Given the description of an element on the screen output the (x, y) to click on. 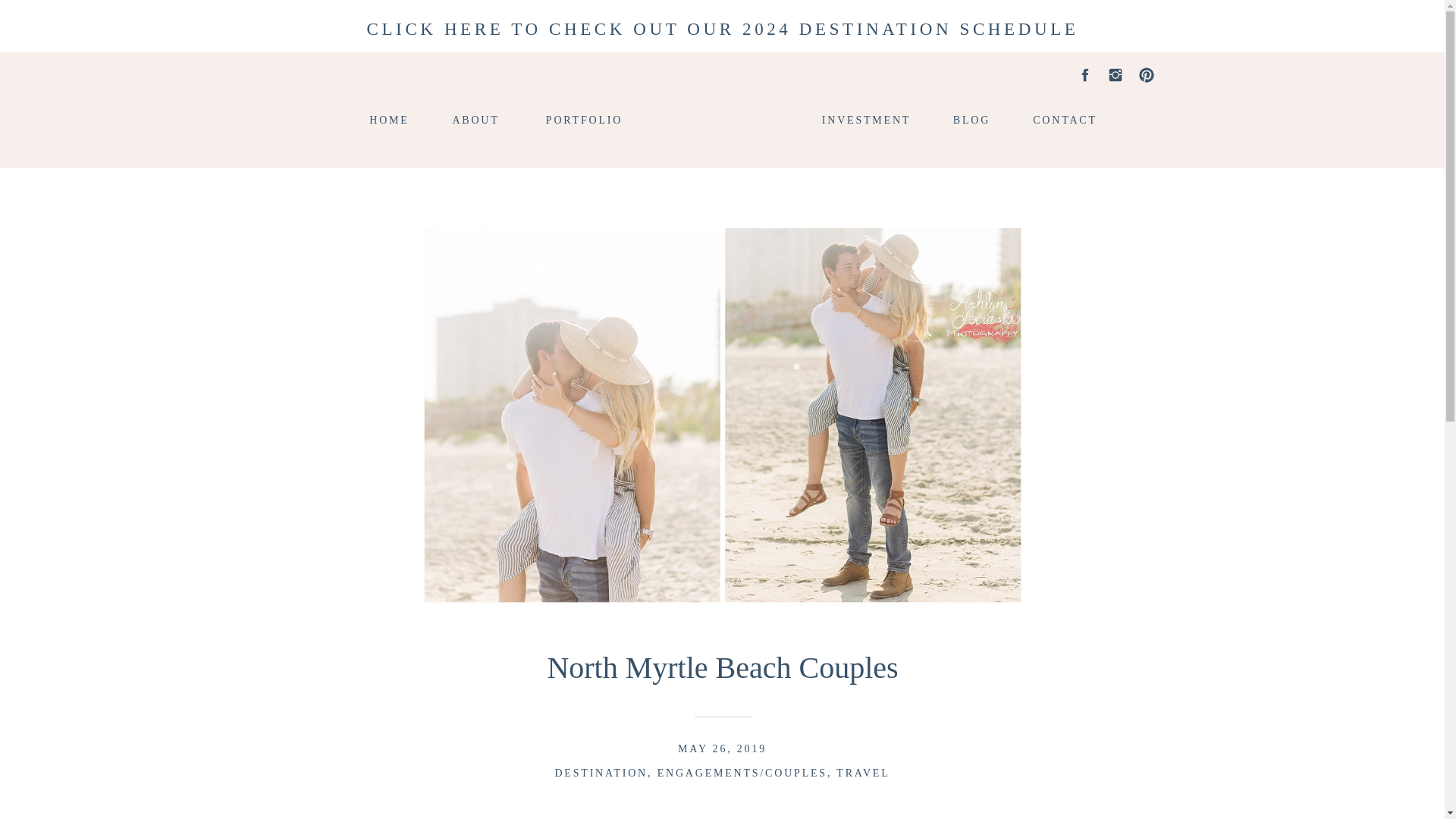
DESTINATION (600, 772)
BLOG (970, 117)
PORTFOLIO (583, 117)
CONTACT (1064, 117)
INVESTMENT (866, 117)
ABOUT (475, 117)
HOME (389, 117)
CLICK HERE TO CHECK OUT OUR 2024 DESTINATION SCHEDULE (722, 25)
TRAVEL (862, 772)
